Given the description of an element on the screen output the (x, y) to click on. 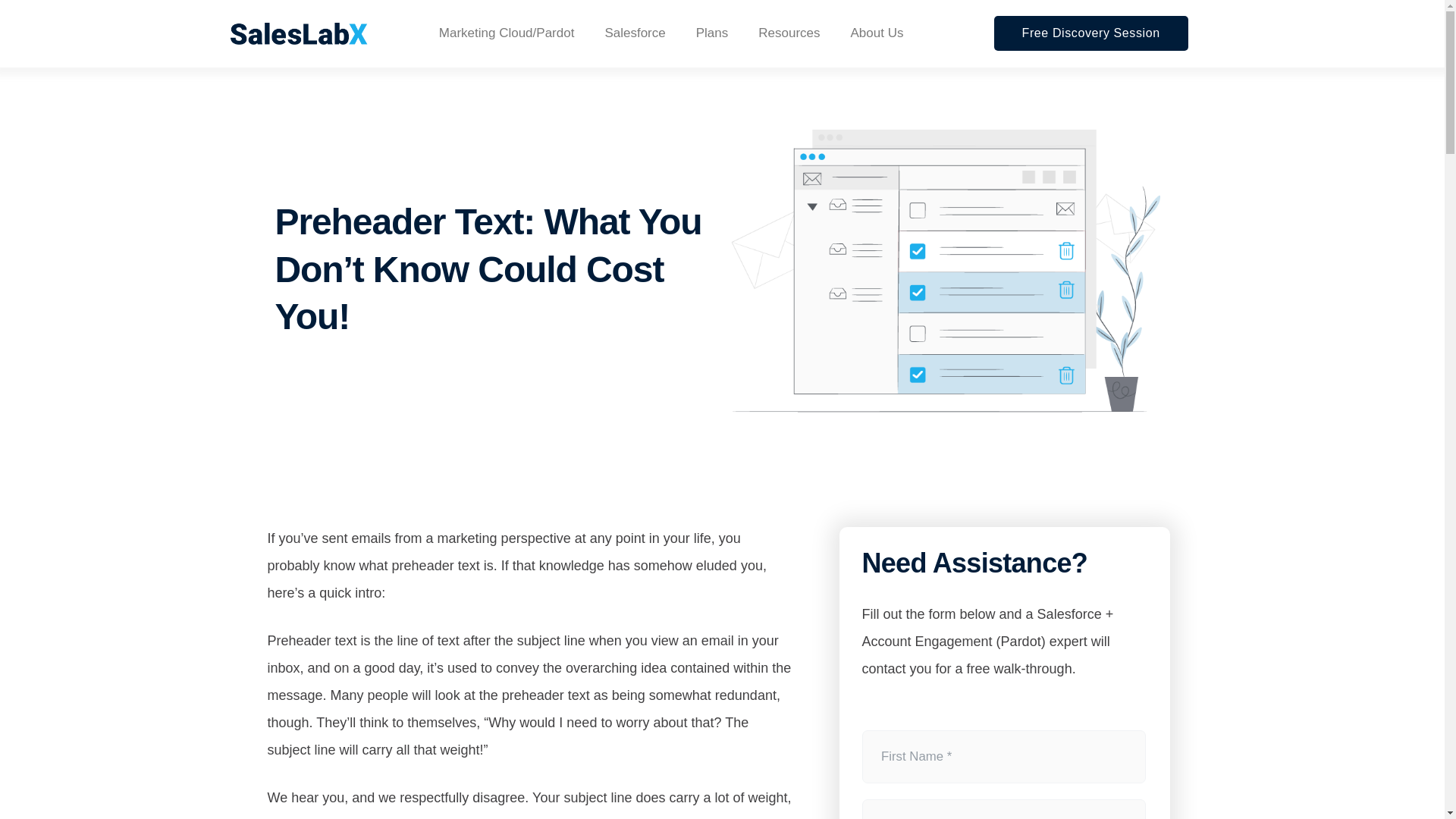
About Us (876, 32)
Resources (788, 32)
Salesforce (634, 32)
Free Discovery Session (1091, 32)
Plans (712, 32)
